Given the description of an element on the screen output the (x, y) to click on. 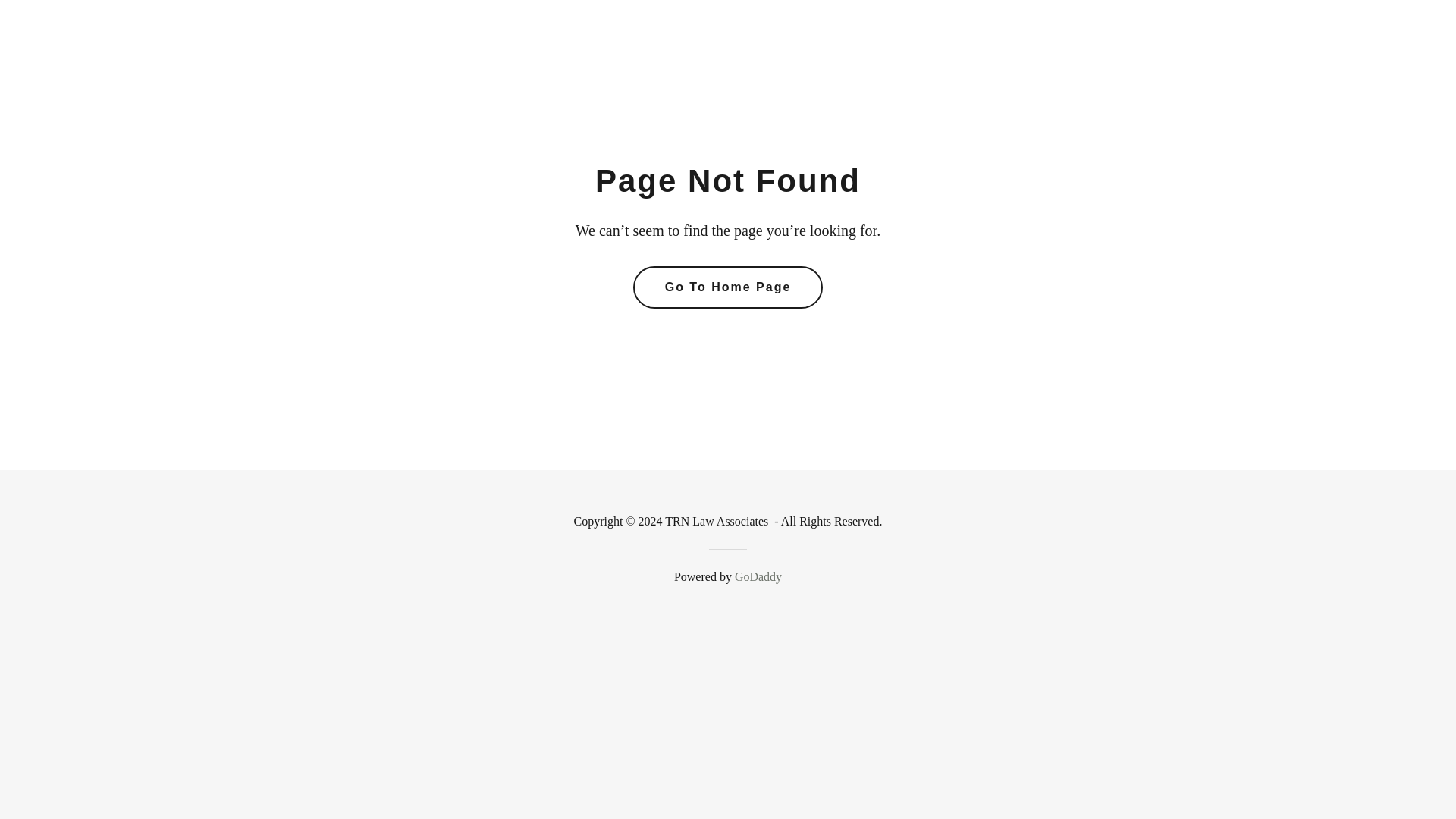
GoDaddy (758, 576)
Go To Home Page (728, 287)
